Given the description of an element on the screen output the (x, y) to click on. 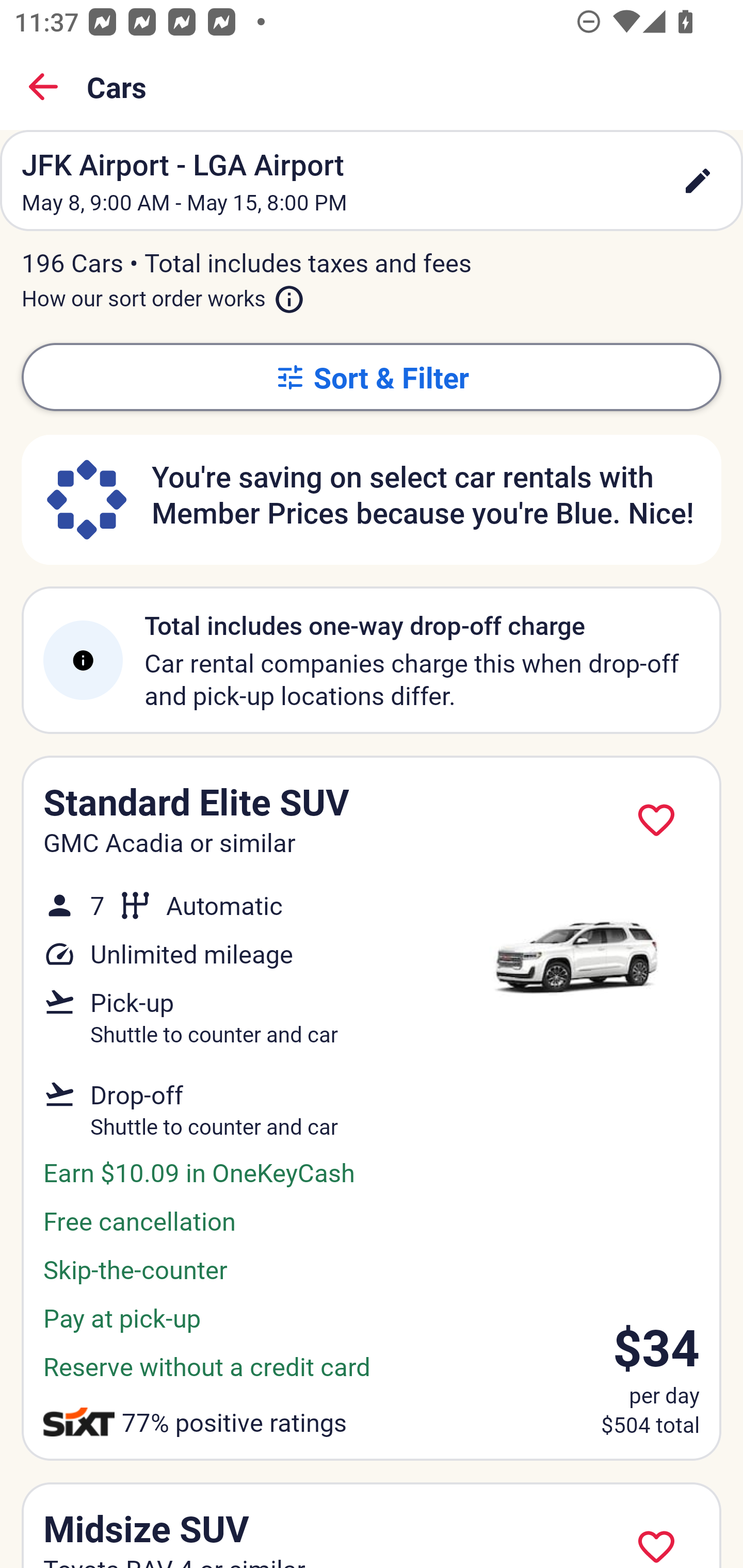
Back (43, 86)
edit (697, 180)
How our sort order works (163, 294)
Sort & Filter (371, 376)
